Given the description of an element on the screen output the (x, y) to click on. 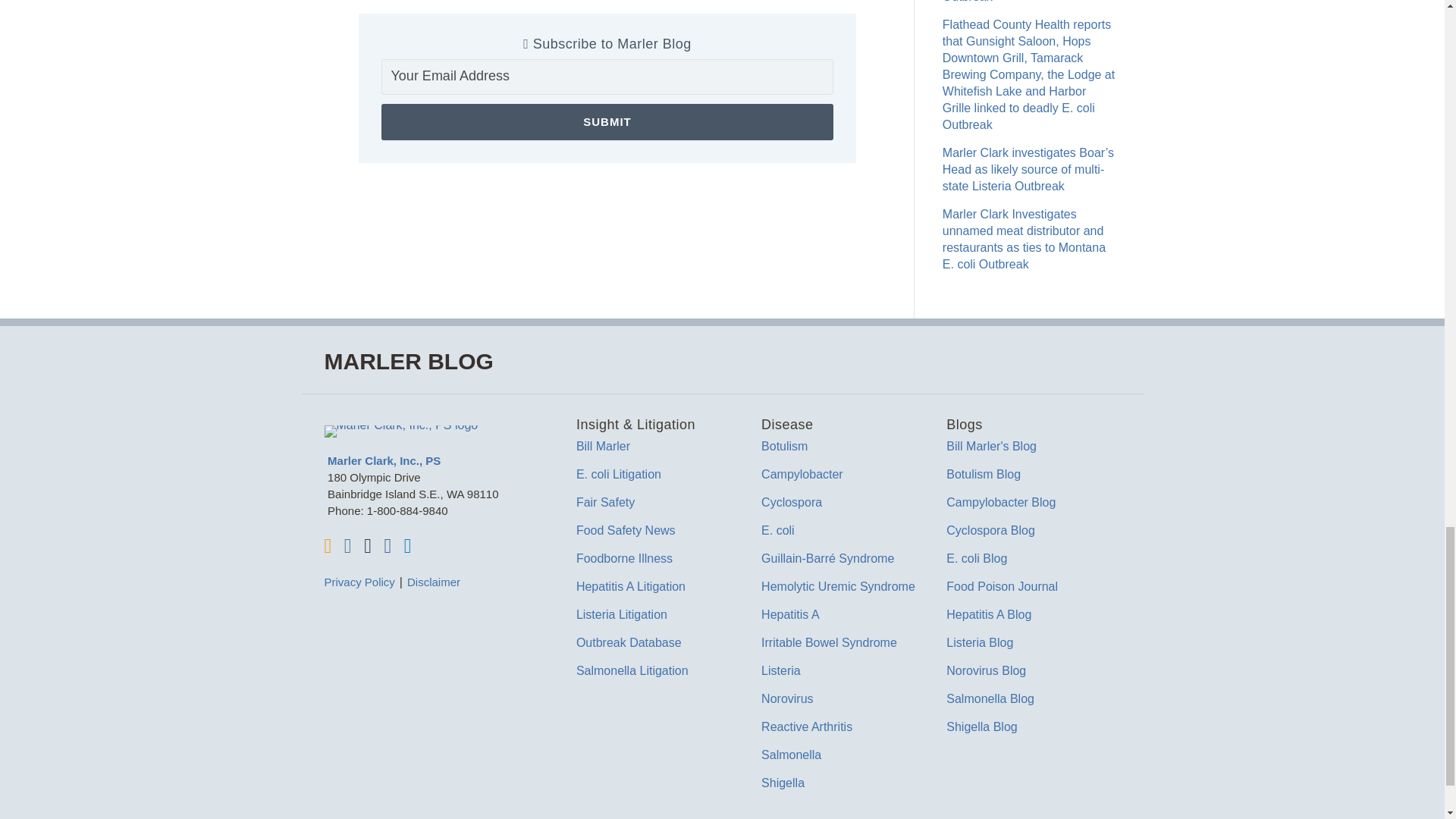
Submit (606, 122)
Submit (606, 122)
